Given the description of an element on the screen output the (x, y) to click on. 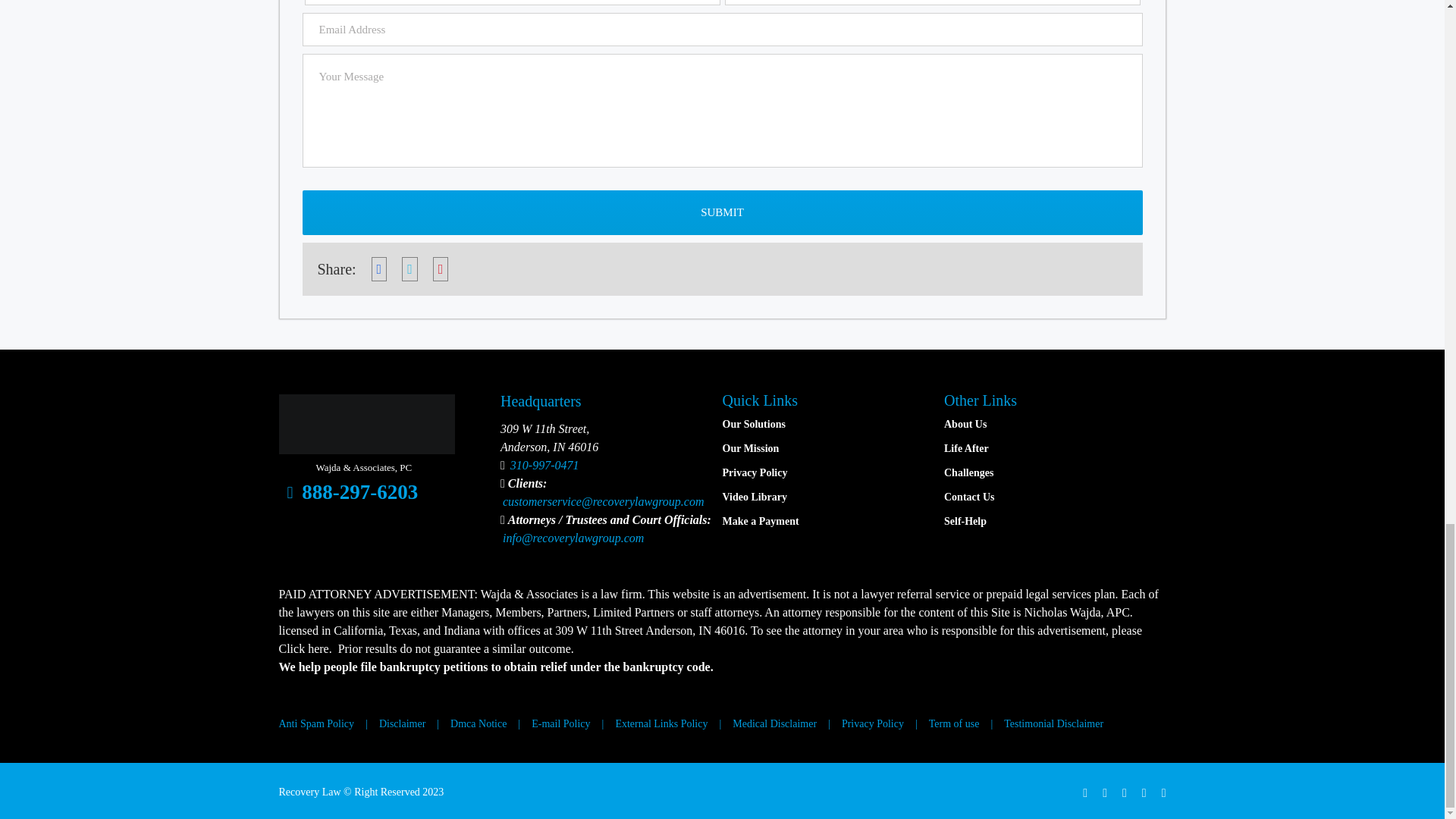
Submit (721, 212)
